Given the description of an element on the screen output the (x, y) to click on. 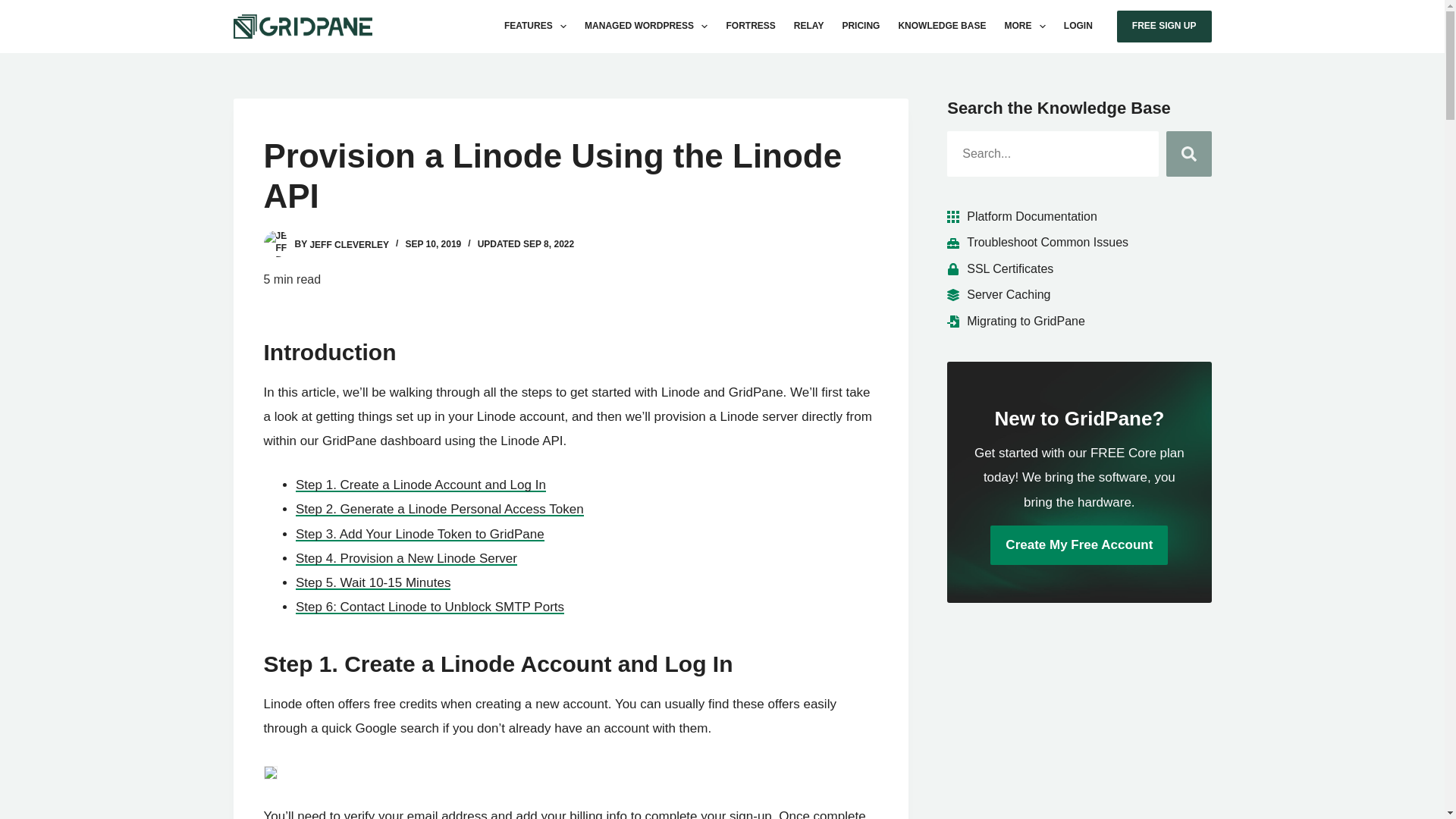
Skip to content (15, 7)
FEATURES (535, 26)
Provision a Linode Using the Linode API (570, 176)
Posts by Jeff Cleverley (348, 244)
